Given the description of an element on the screen output the (x, y) to click on. 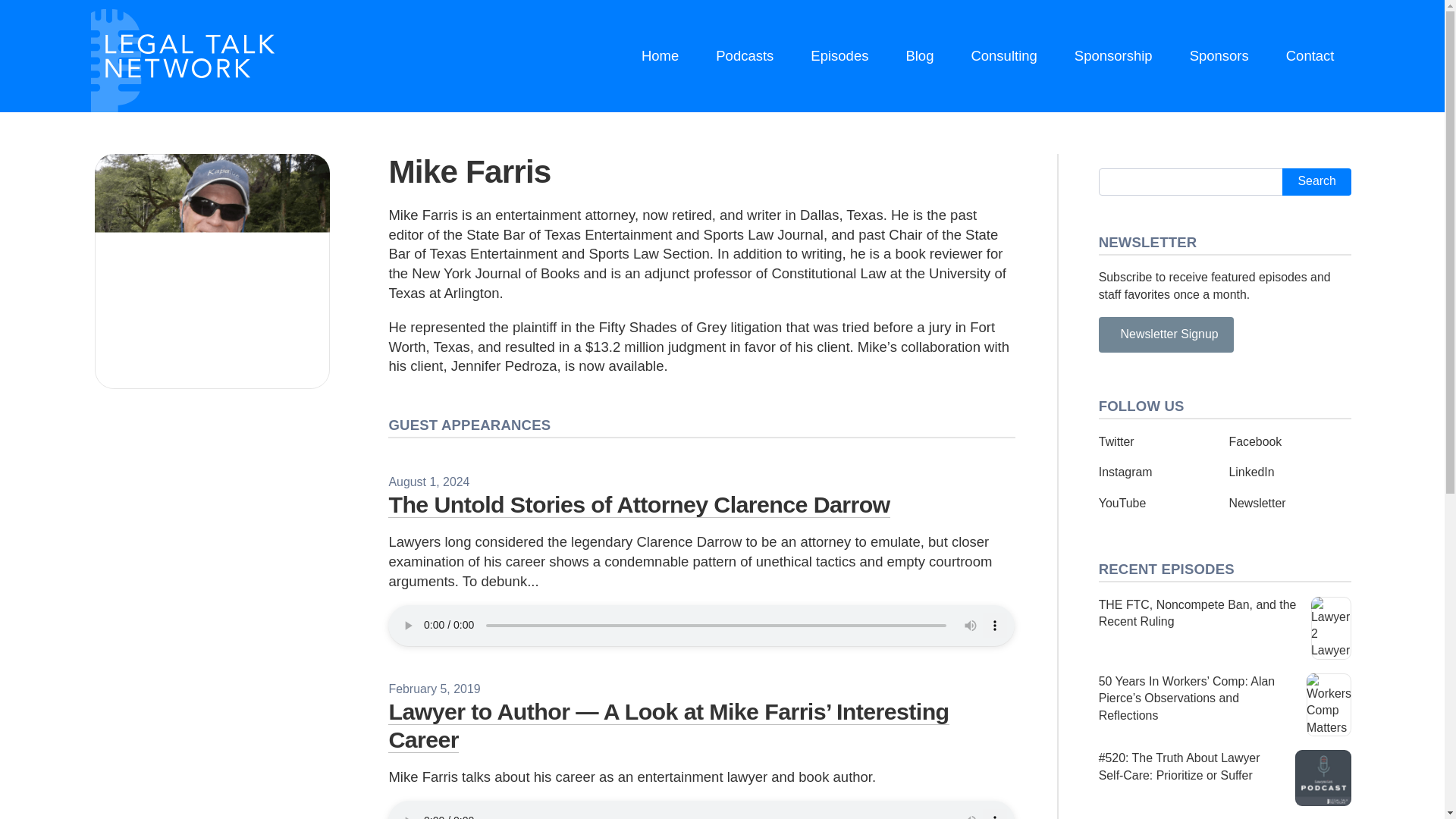
THE FTC, Noncompete Ban, and the Recent Ruling (1225, 628)
Twitter (1116, 440)
LinkedIn (1251, 472)
Search (1316, 181)
Newsletter (1256, 502)
YouTube (1123, 502)
Search (1316, 181)
Facebook (1254, 440)
  Newsletter Signup (1166, 334)
Sponsorship (1113, 56)
